Given the description of an element on the screen output the (x, y) to click on. 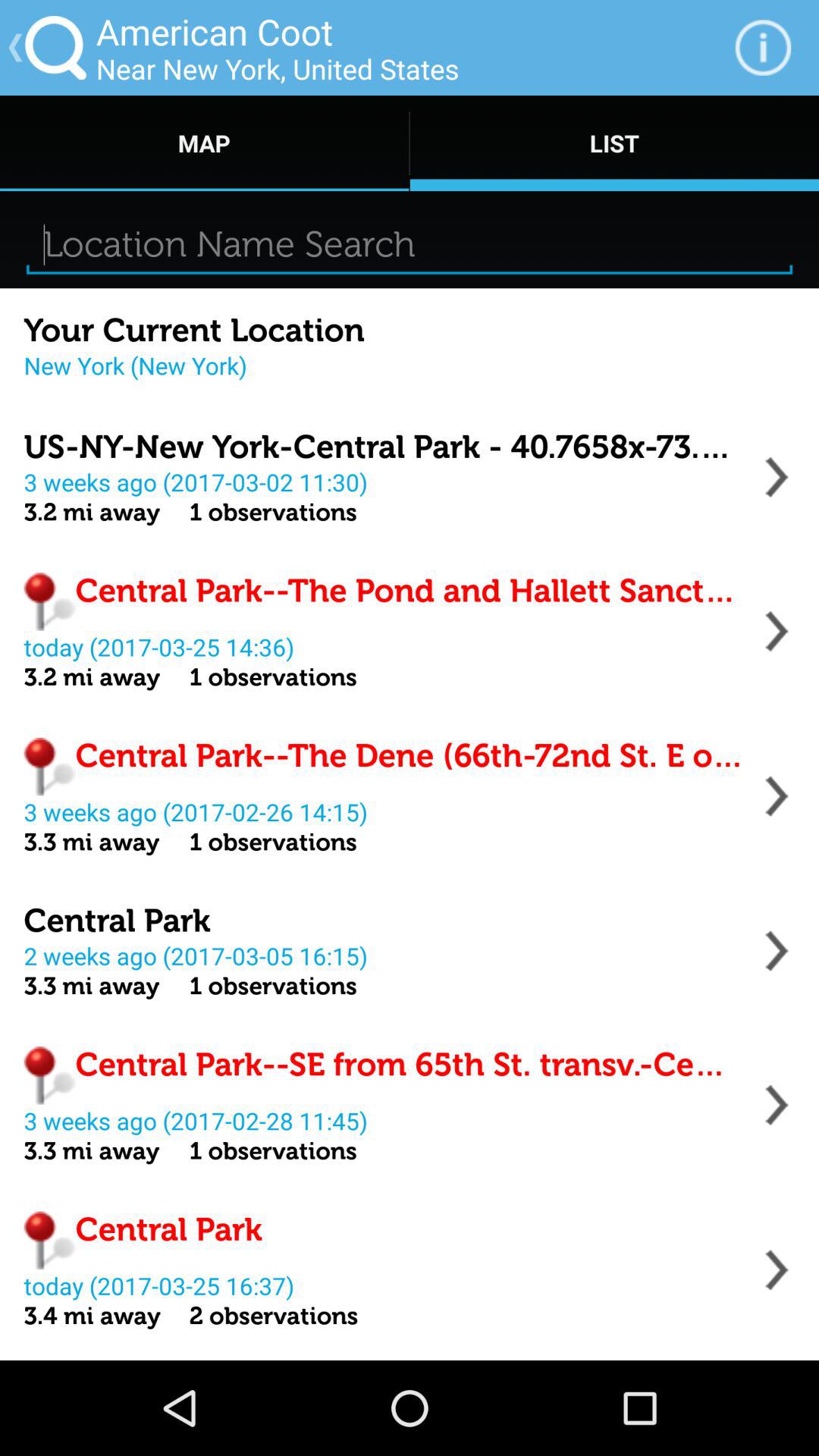
click item above the new york new item (193, 330)
